Given the description of an element on the screen output the (x, y) to click on. 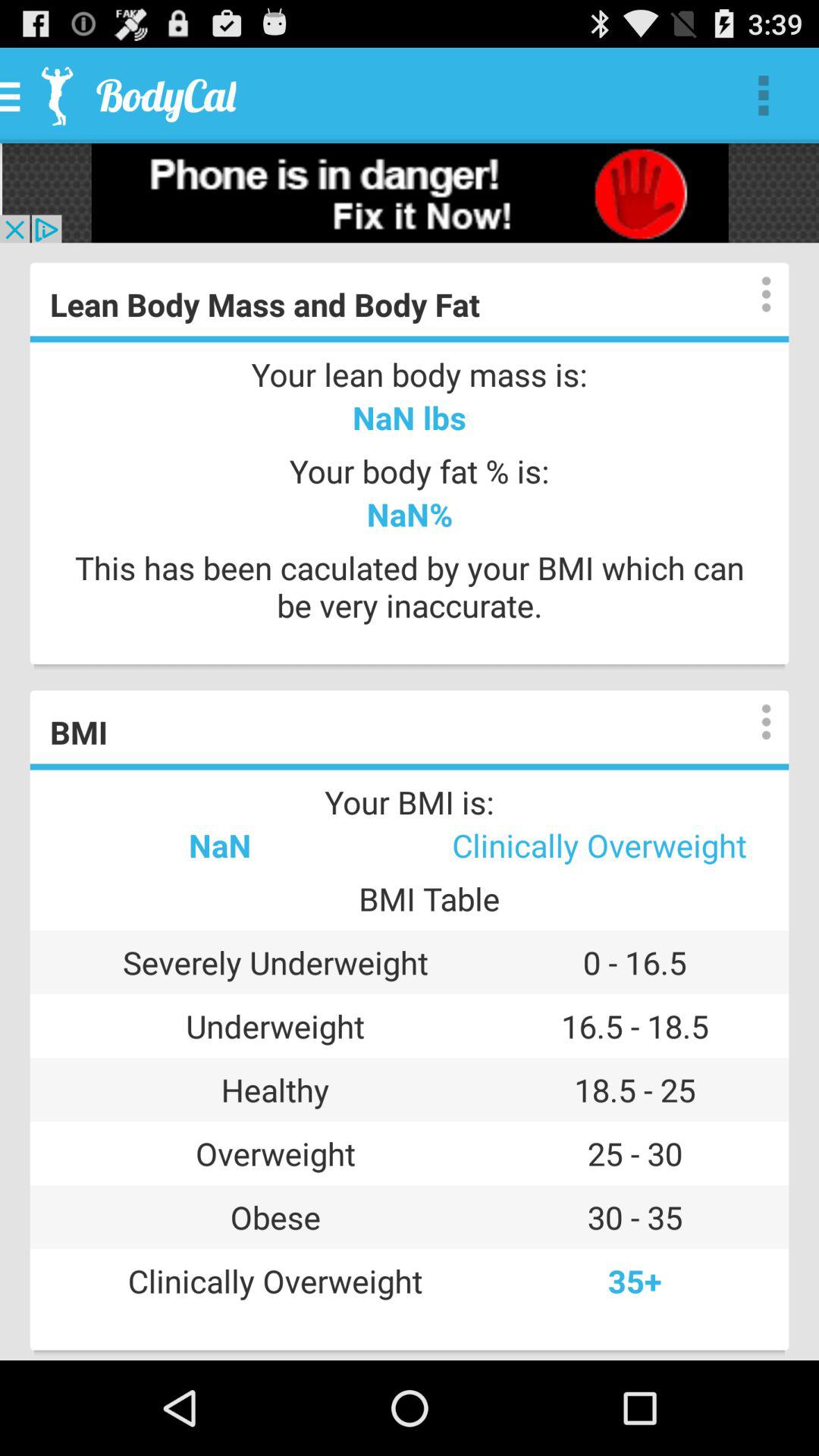
show options (750, 294)
